Given the description of an element on the screen output the (x, y) to click on. 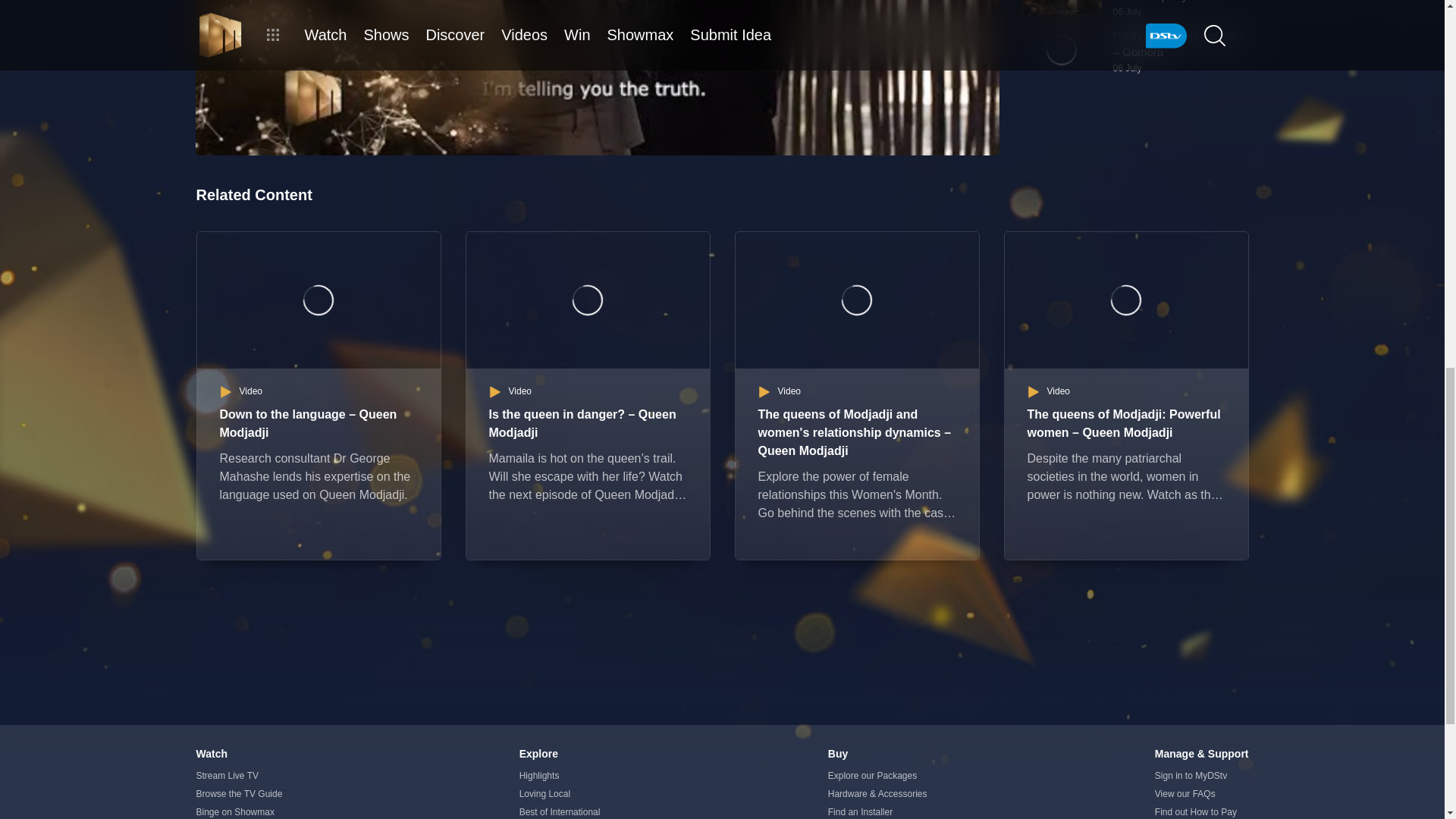
Binge on Showmax (243, 811)
Explore our Packages (877, 775)
Best of International (559, 811)
Sign in to MyDStv (1201, 775)
View our FAQs (1201, 793)
Stream Live TV (243, 775)
Browse the TV Guide (243, 793)
Loving Local (559, 793)
Find out How to Pay (1201, 811)
Find an Installer (877, 811)
